Given the description of an element on the screen output the (x, y) to click on. 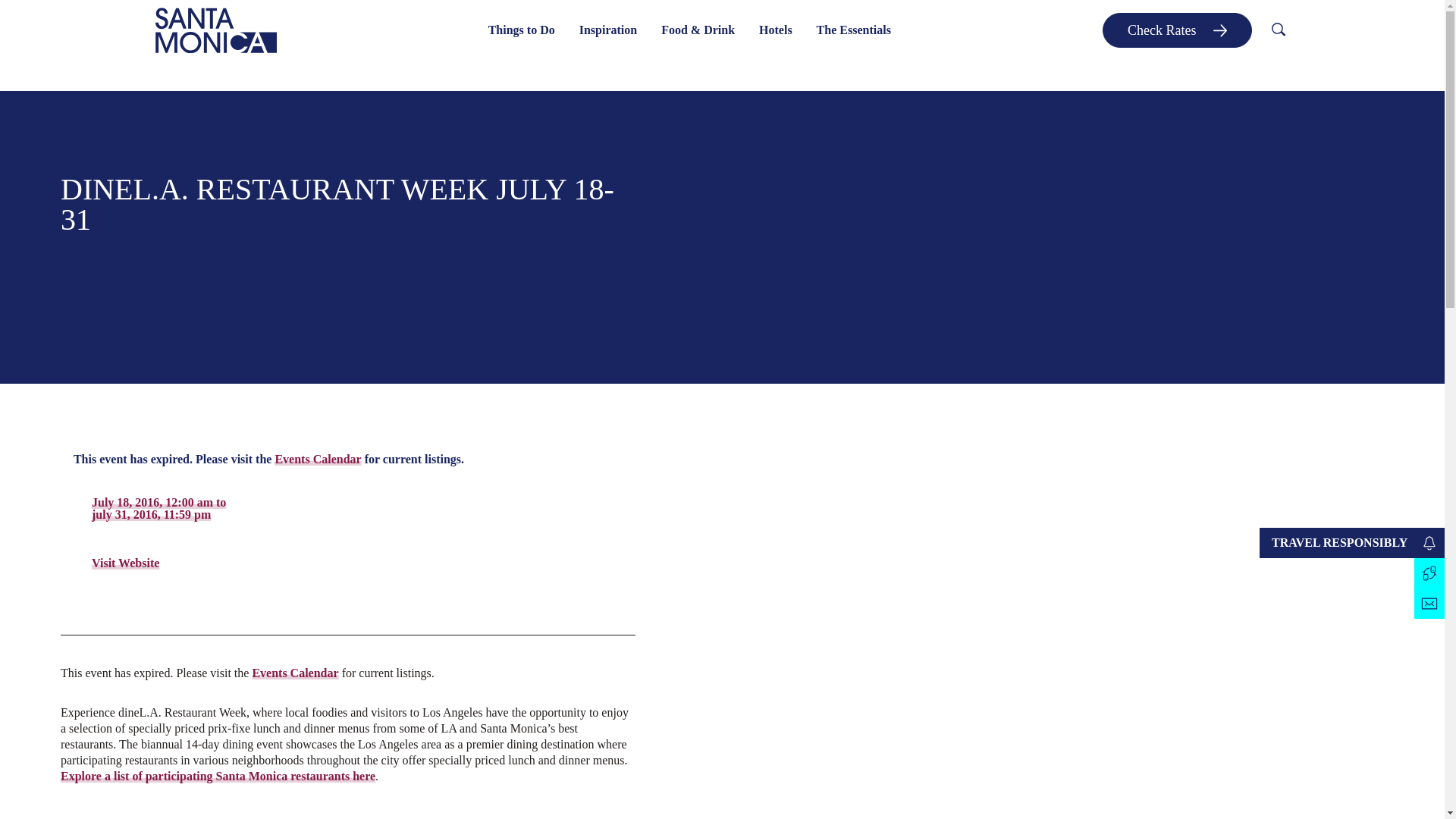
Inspiration (608, 29)
Things to Do (521, 29)
